Given the description of an element on the screen output the (x, y) to click on. 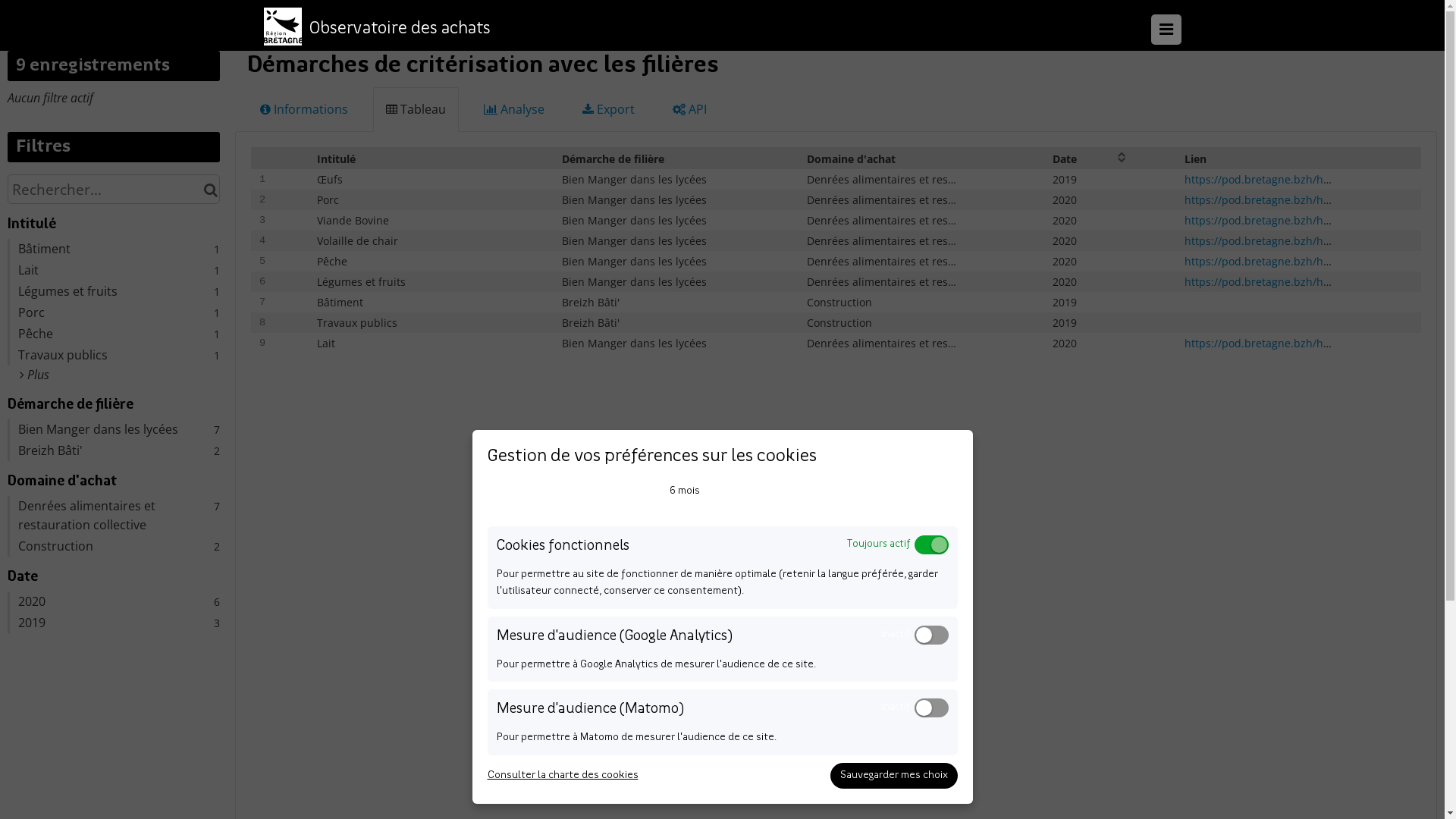
API Element type: text (689, 109)
Export Element type: text (608, 109)
6
2020 Element type: text (113, 601)
1
Porc Element type: text (113, 312)
3
2019 Element type: text (113, 622)
Plus Element type: text (34, 374)
Informations Element type: text (303, 109)
Consulter la charte des cookies Element type: text (561, 775)
Observatoire des achats Element type: text (399, 29)
trier Element type: hover (1121, 156)
Sauvegarder mes choix Element type: text (893, 775)
Analyse Element type: text (513, 109)
2
Construction Element type: text (113, 545)
1
Lait Element type: text (113, 269)
Tableau Element type: text (415, 109)
1
Travaux publics Element type: text (113, 354)
